Given the description of an element on the screen output the (x, y) to click on. 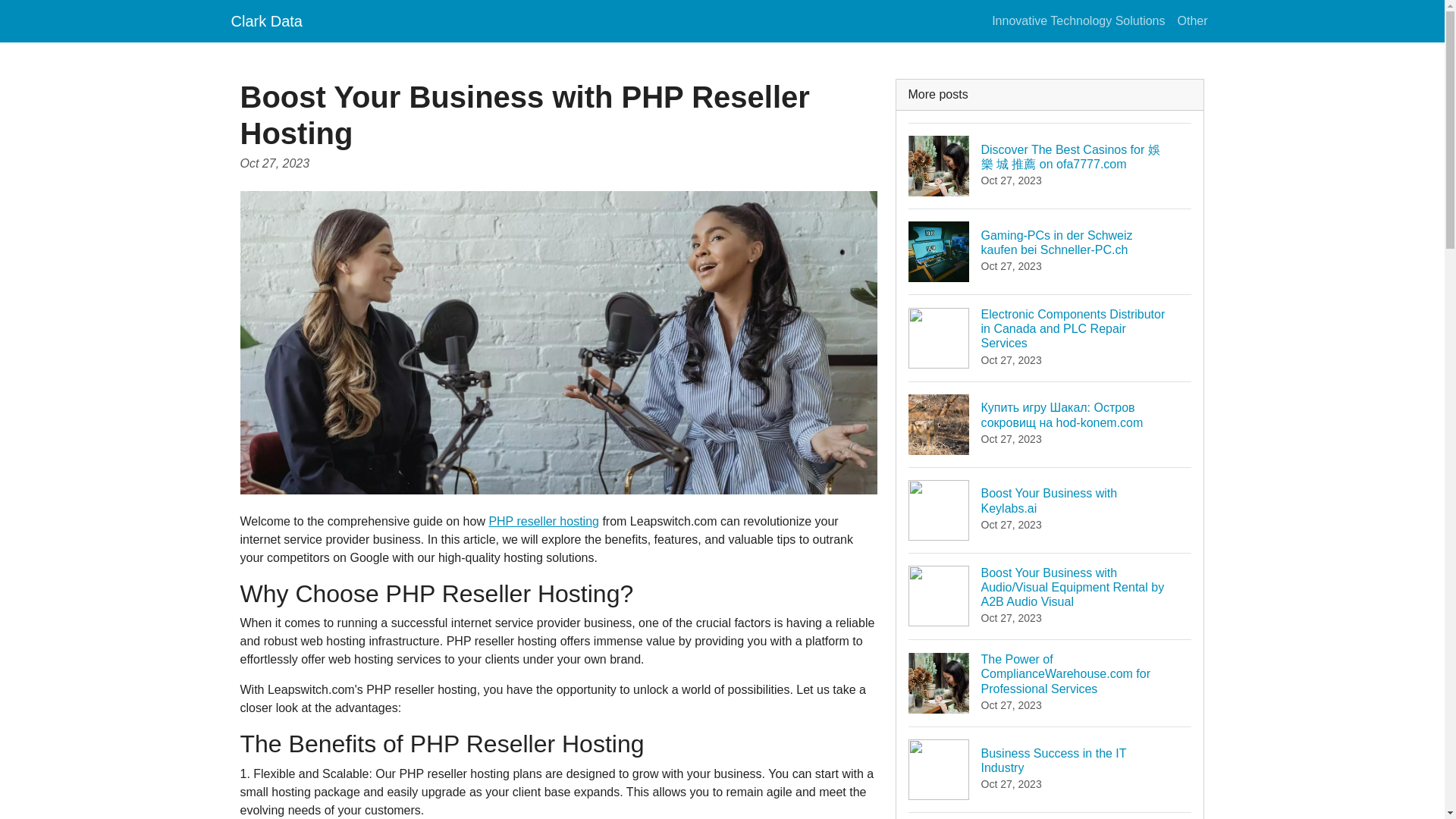
PHP reseller hosting (542, 521)
Innovative Technology Solutions (1050, 509)
Other (1050, 769)
Clark Data (1077, 20)
